Given the description of an element on the screen output the (x, y) to click on. 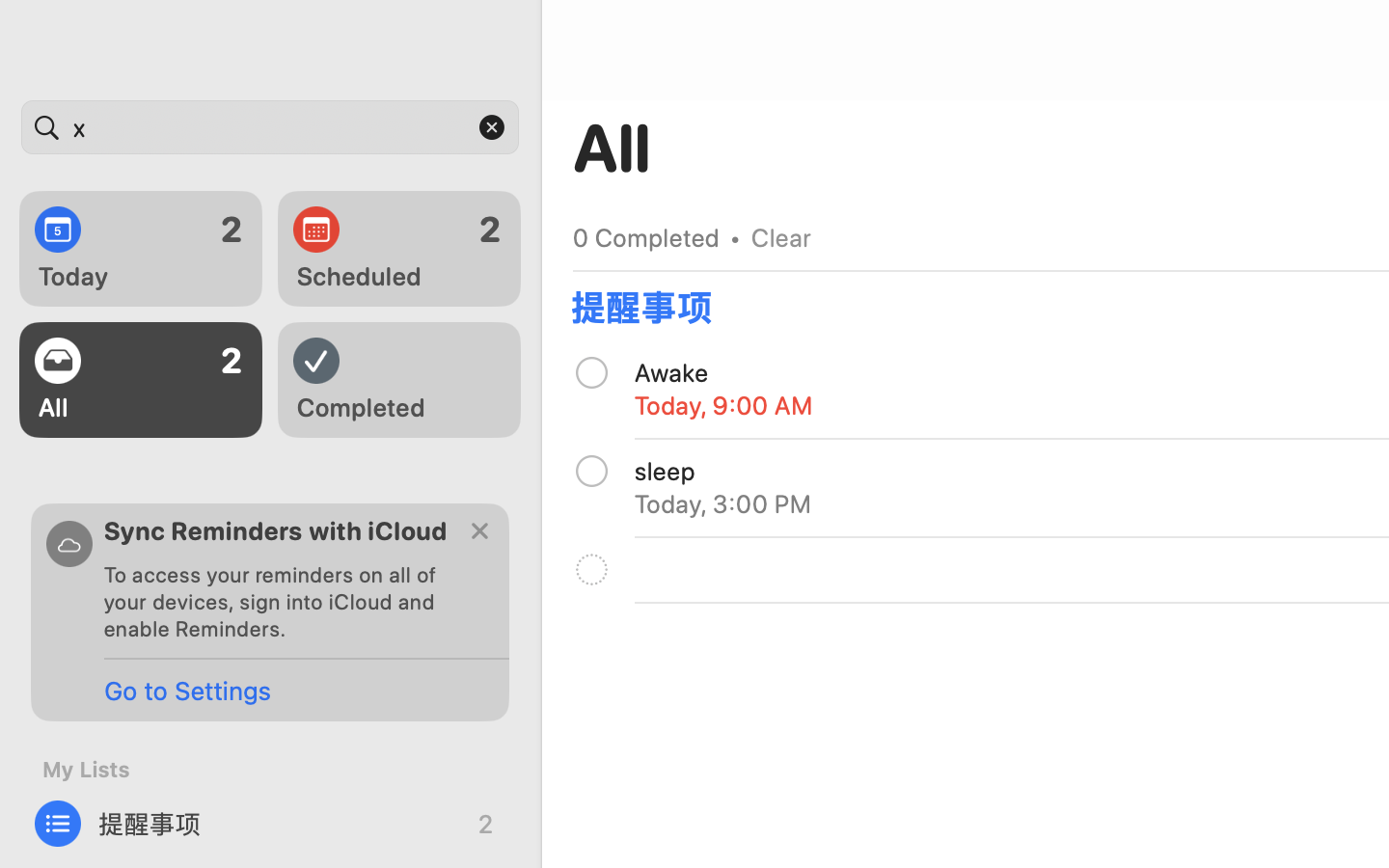
0 Completed Element type: AXStaticText (646, 236)
To access your reminders on all of your devices, sign into iCloud and enable Reminders. Element type: AXStaticText (278, 601)
Sync Reminders with iCloud Element type: AXStaticText (275, 530)
Today, 9:00 AM Element type: AXStaticText (723, 404)
